Given the description of an element on the screen output the (x, y) to click on. 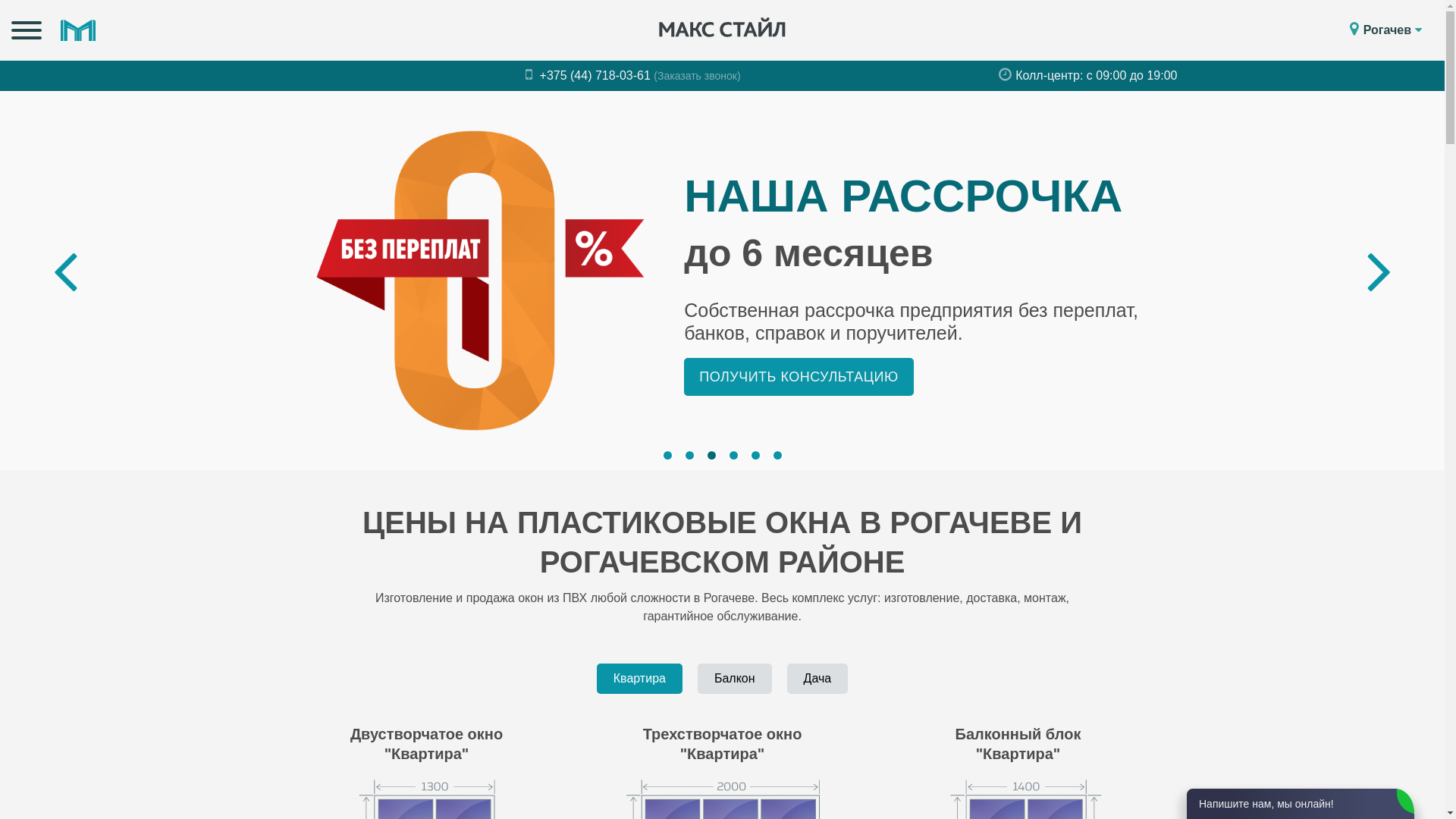
+375 (44) 718-03-61 Element type: text (589, 75)
